Given the description of an element on the screen output the (x, y) to click on. 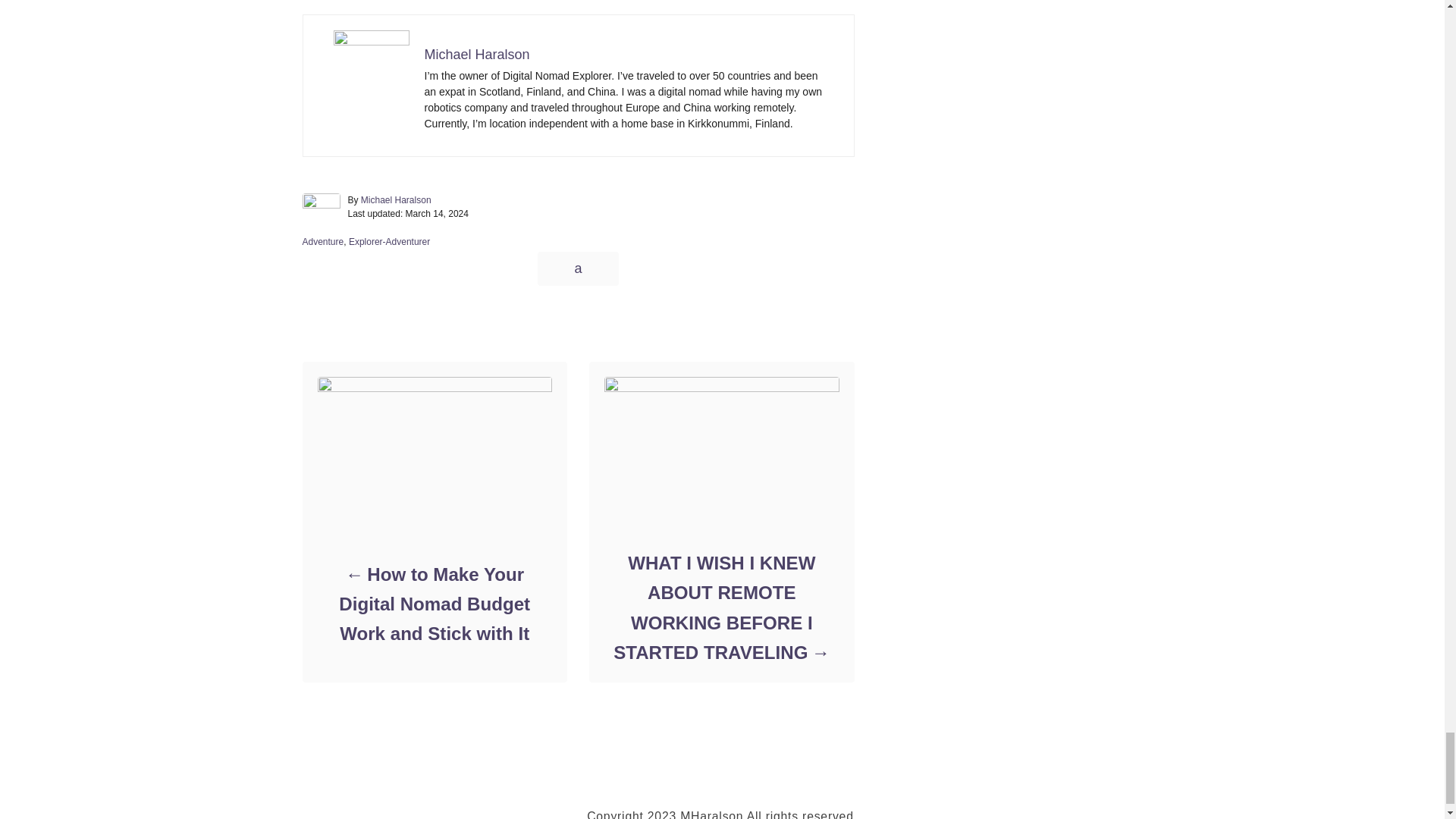
How to Make Your Digital Nomad Budget Work and Stick with It (434, 604)
Michael Haralson (477, 54)
Explorer-Adventurer (389, 241)
a (577, 268)
Michael Haralson (395, 199)
Adventure (322, 241)
